Given the description of an element on the screen output the (x, y) to click on. 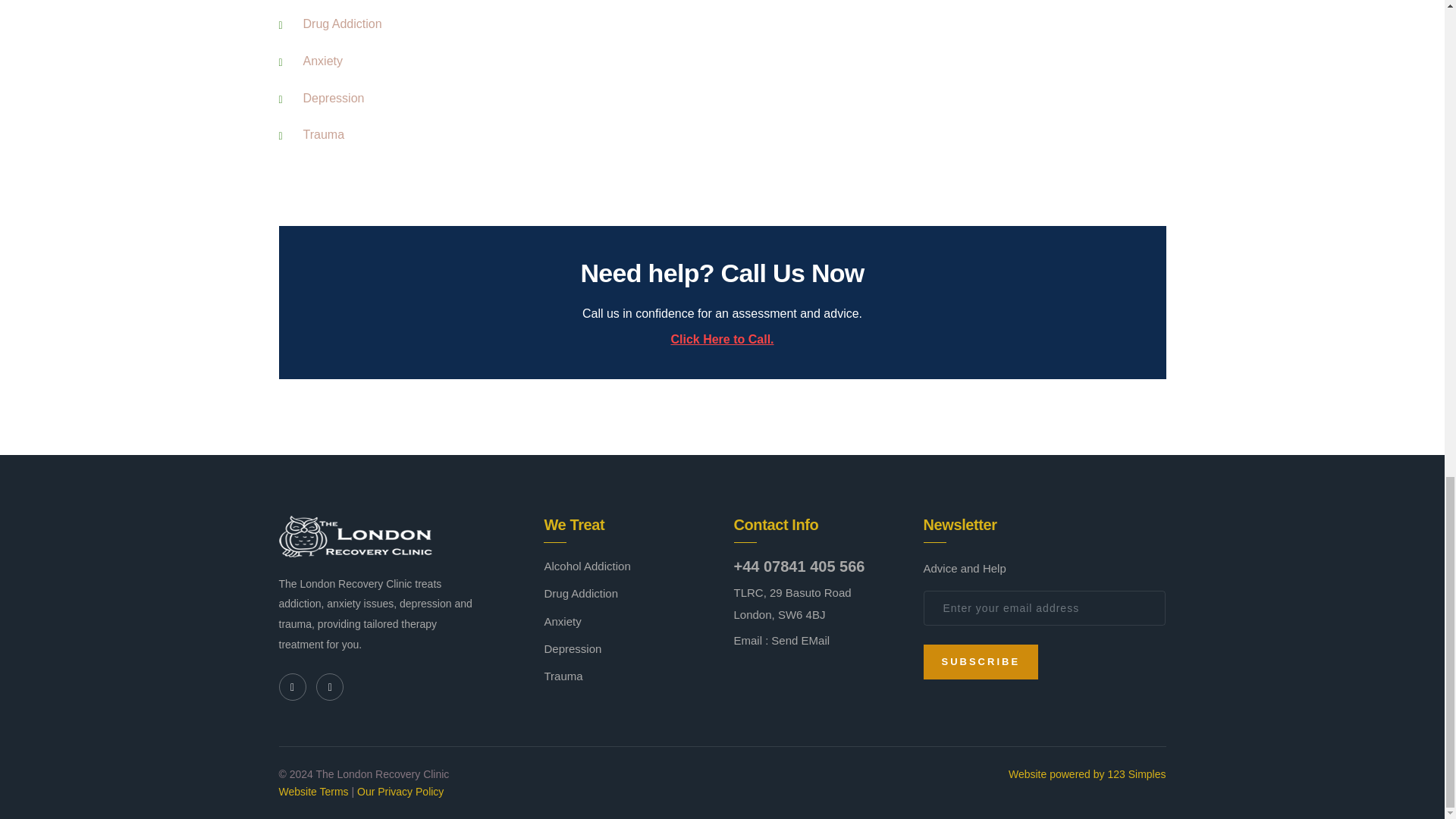
Waterlooville Web Designs (1087, 774)
Click Here to Call. (721, 340)
Drug Addiction (341, 23)
Depression (333, 97)
Anxiety (322, 60)
Trauma (323, 133)
